Given the description of an element on the screen output the (x, y) to click on. 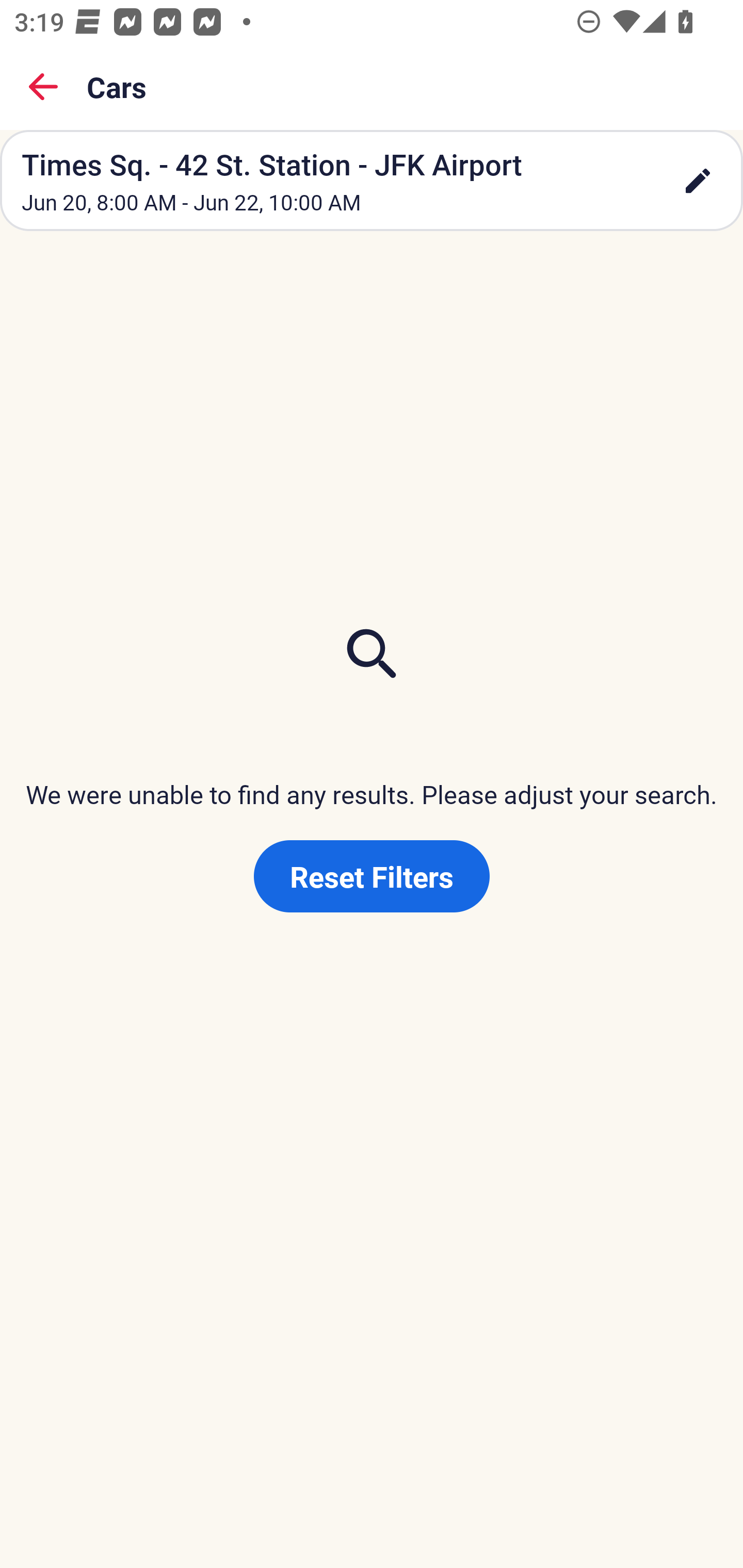
Back (43, 86)
edit (697, 180)
Reset Filters (371, 876)
